Given the description of an element on the screen output the (x, y) to click on. 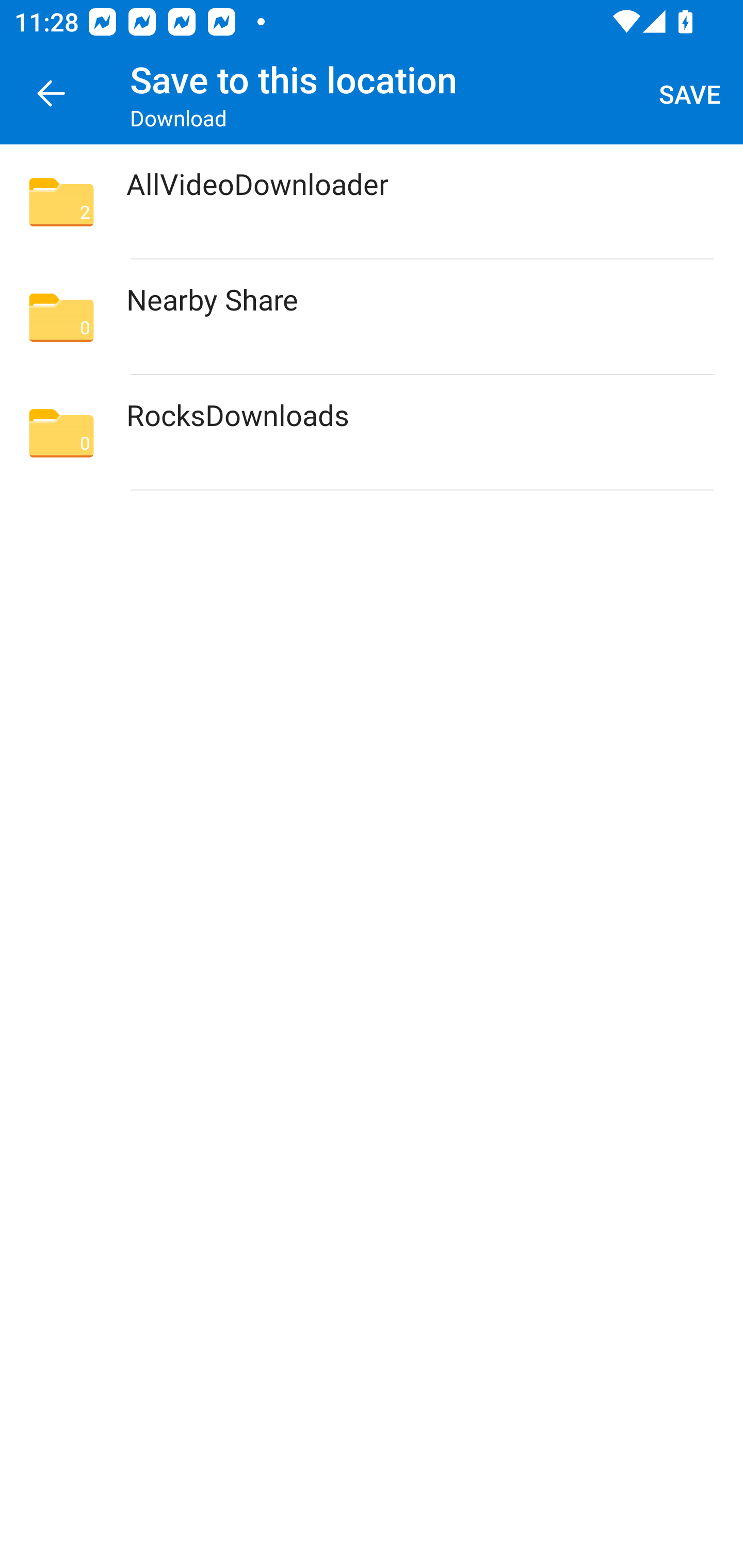
Navigate up (50, 93)
SAVE (690, 93)
Folder 2 2 items AllVideoDownloader (371, 202)
Folder 0 0 items Nearby Share (371, 317)
Folder 0 0 items RocksDownloads (371, 432)
